Given the description of an element on the screen output the (x, y) to click on. 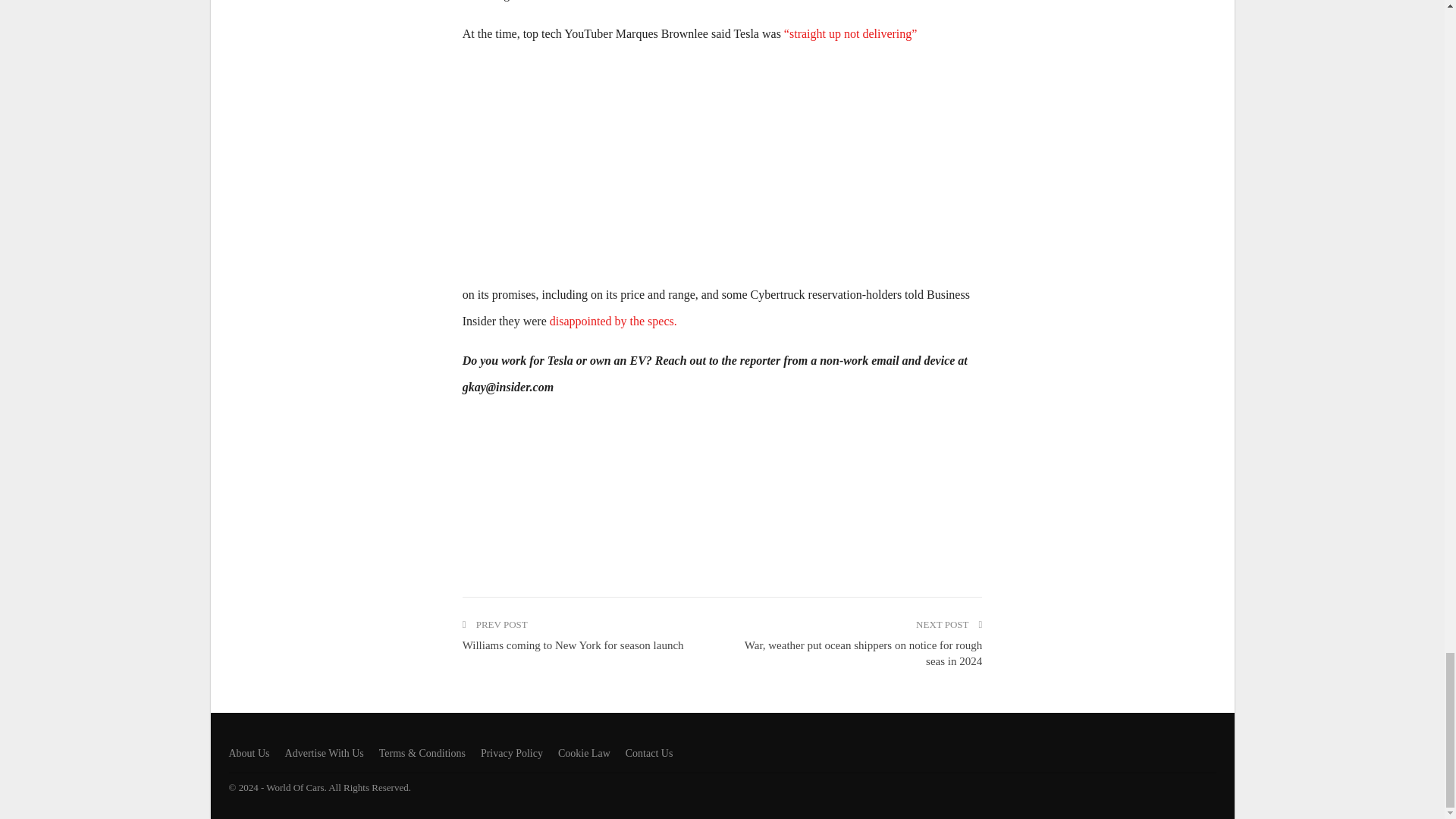
disappointed by the specs. (613, 320)
Williams coming to New York for season launch (573, 645)
